Given the description of an element on the screen output the (x, y) to click on. 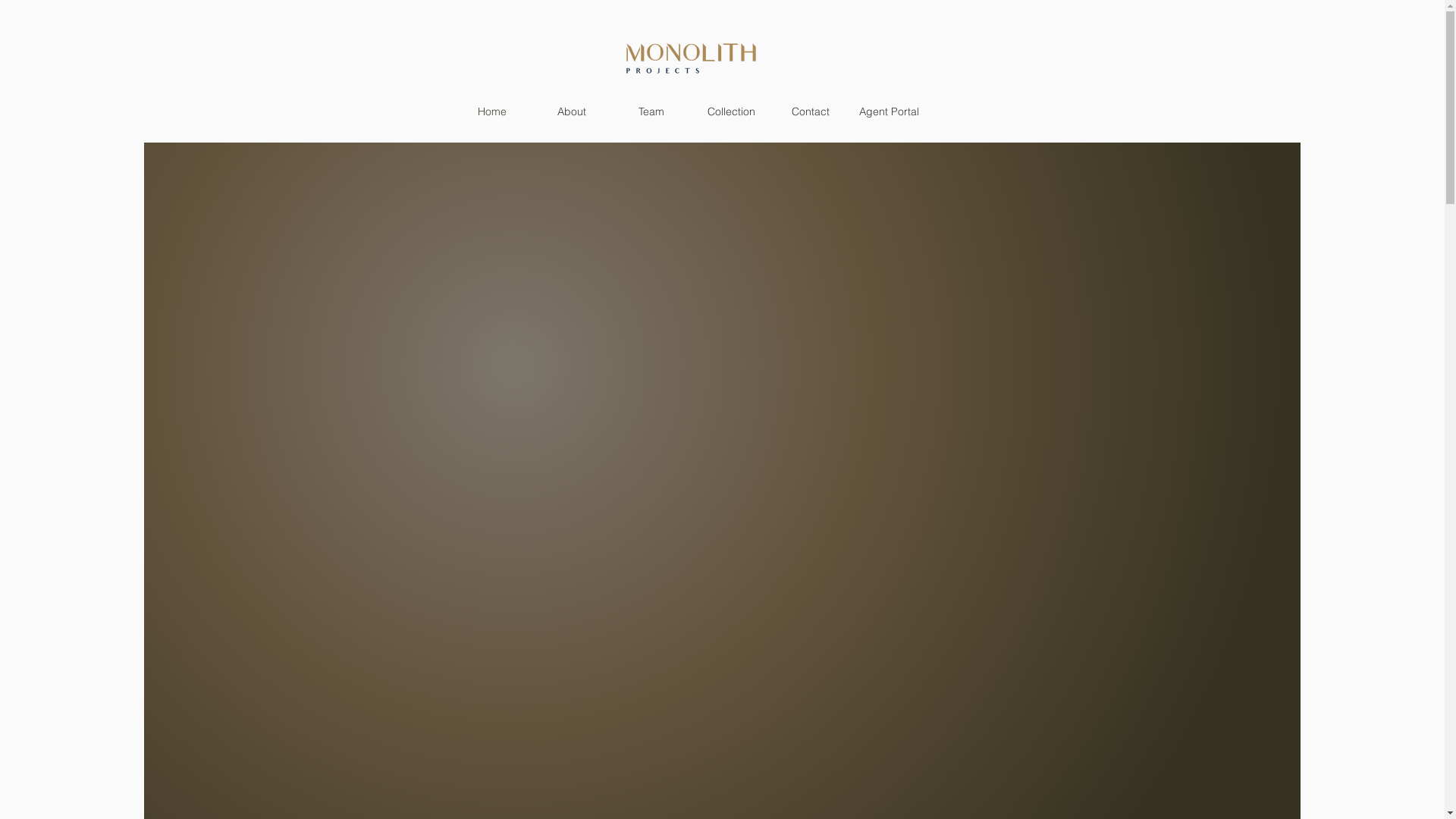
Agent Portal Element type: text (888, 111)
About Element type: text (571, 111)
Contact Element type: text (809, 111)
Collection Element type: text (731, 111)
Team Element type: text (650, 111)
Team Element type: text (67, 51)
Home Element type: text (491, 111)
